Given the description of an element on the screen output the (x, y) to click on. 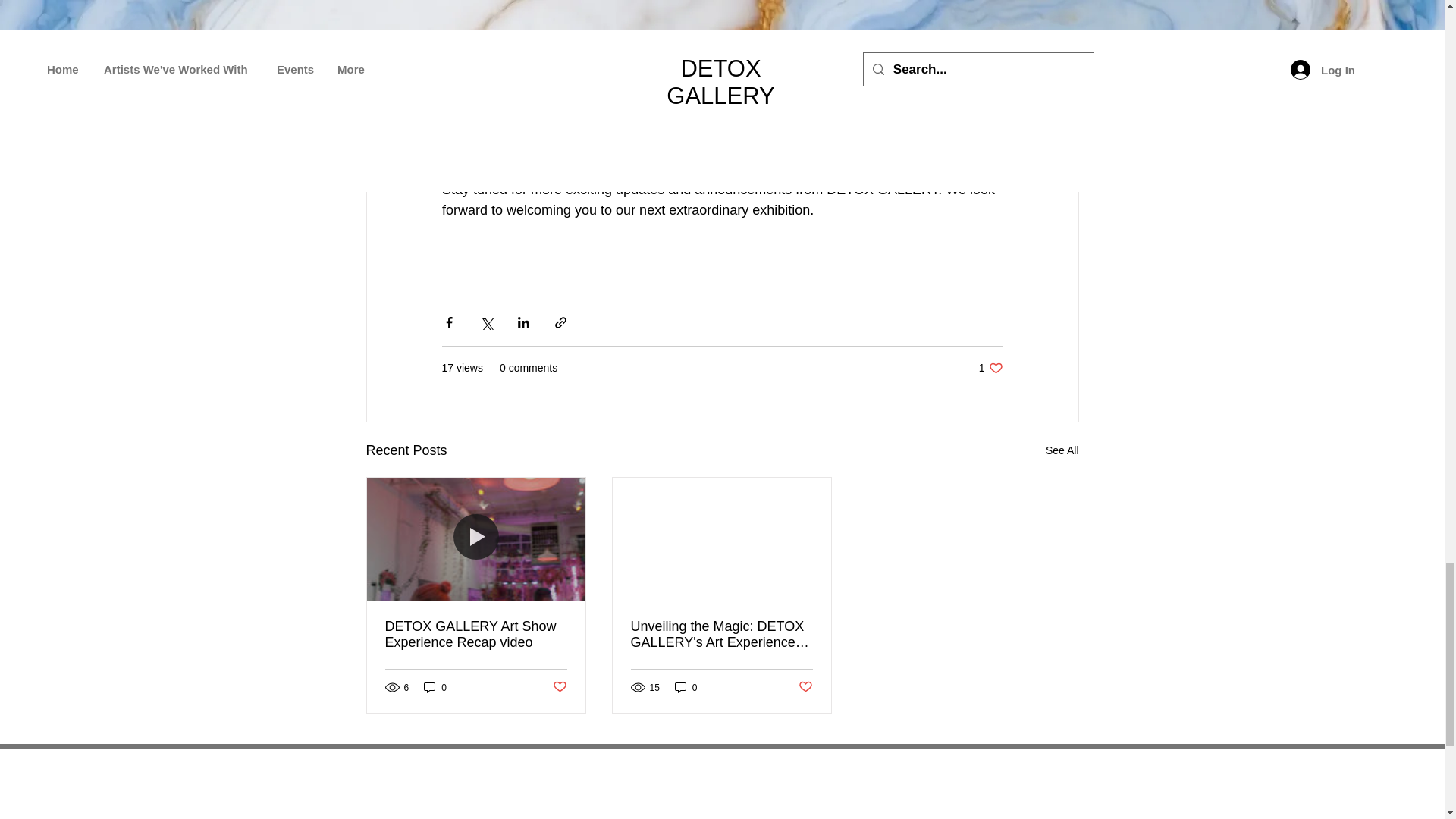
0 (990, 368)
0 (685, 687)
See All (435, 687)
DETOX GALLERY Art Show Experience Recap video (1061, 450)
Post not marked as liked (476, 634)
Post not marked as liked (558, 687)
